Given the description of an element on the screen output the (x, y) to click on. 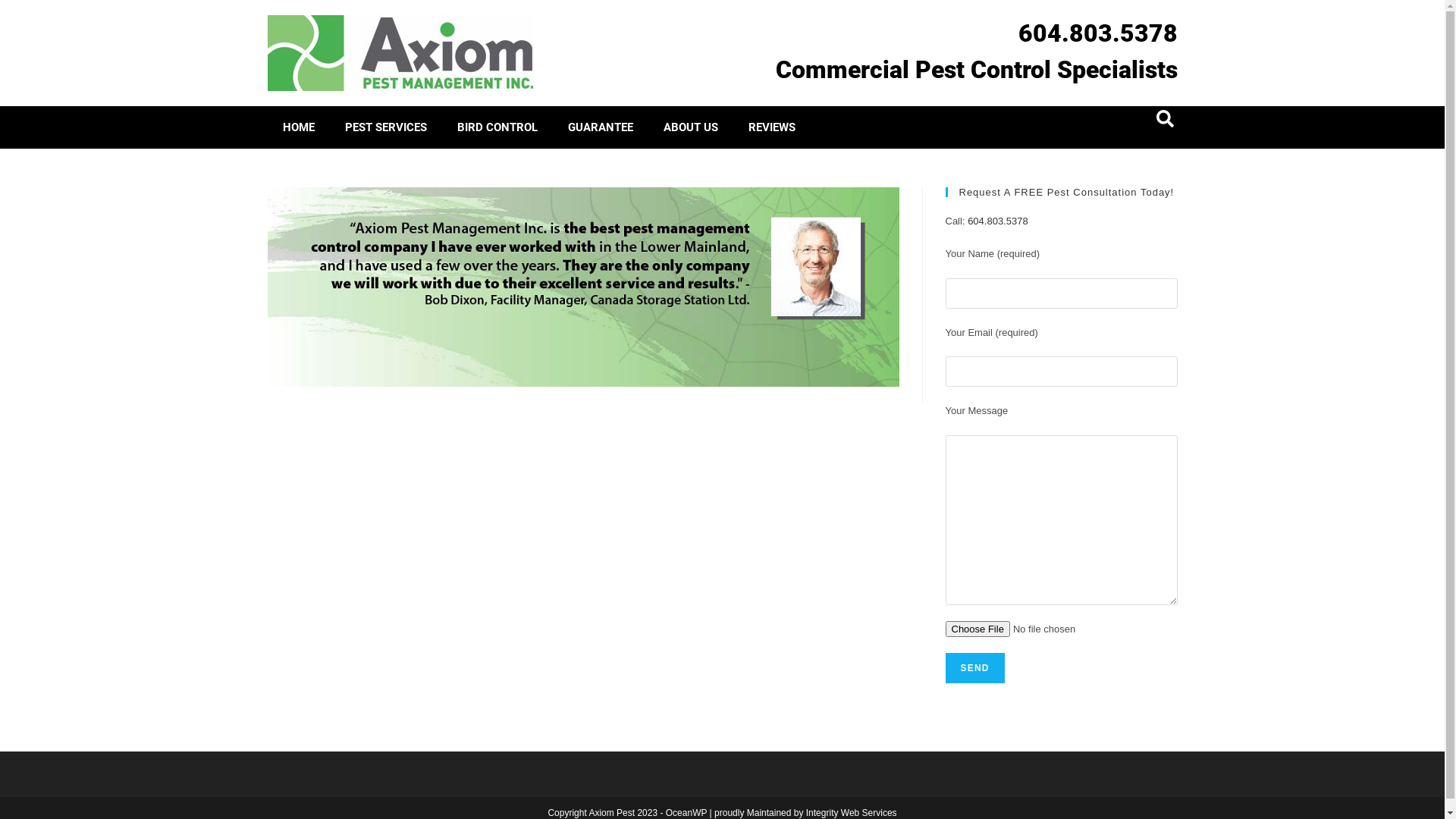
ABOUT US Element type: text (689, 127)
REVIEWS Element type: text (770, 127)
Send Element type: text (974, 667)
604.803.5378 Element type: text (997, 220)
604.803.5378
Commercial Pest Control Specialists Element type: text (975, 51)
GUARANTEE Element type: text (599, 127)
BIRD CONTROL Element type: text (496, 127)
Integrity Web Services Element type: text (851, 812)
PEST SERVICES Element type: text (385, 127)
HOME Element type: text (297, 127)
